Given the description of an element on the screen output the (x, y) to click on. 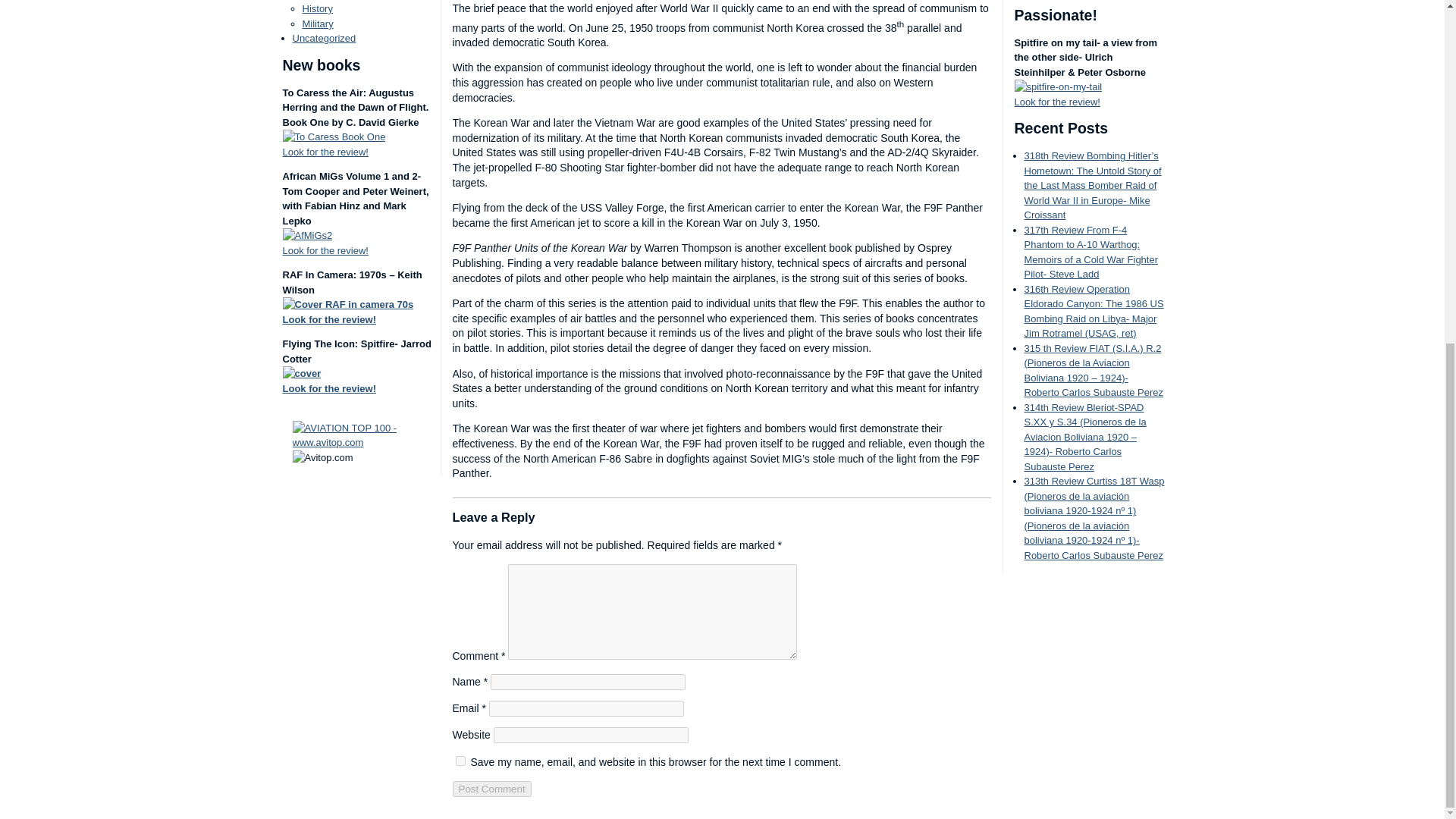
yes (459, 760)
Uncategorized (324, 38)
History (316, 8)
Look for the review! (325, 250)
Military (317, 23)
Look for the review! (325, 152)
Post Comment (491, 788)
